Given the description of an element on the screen output the (x, y) to click on. 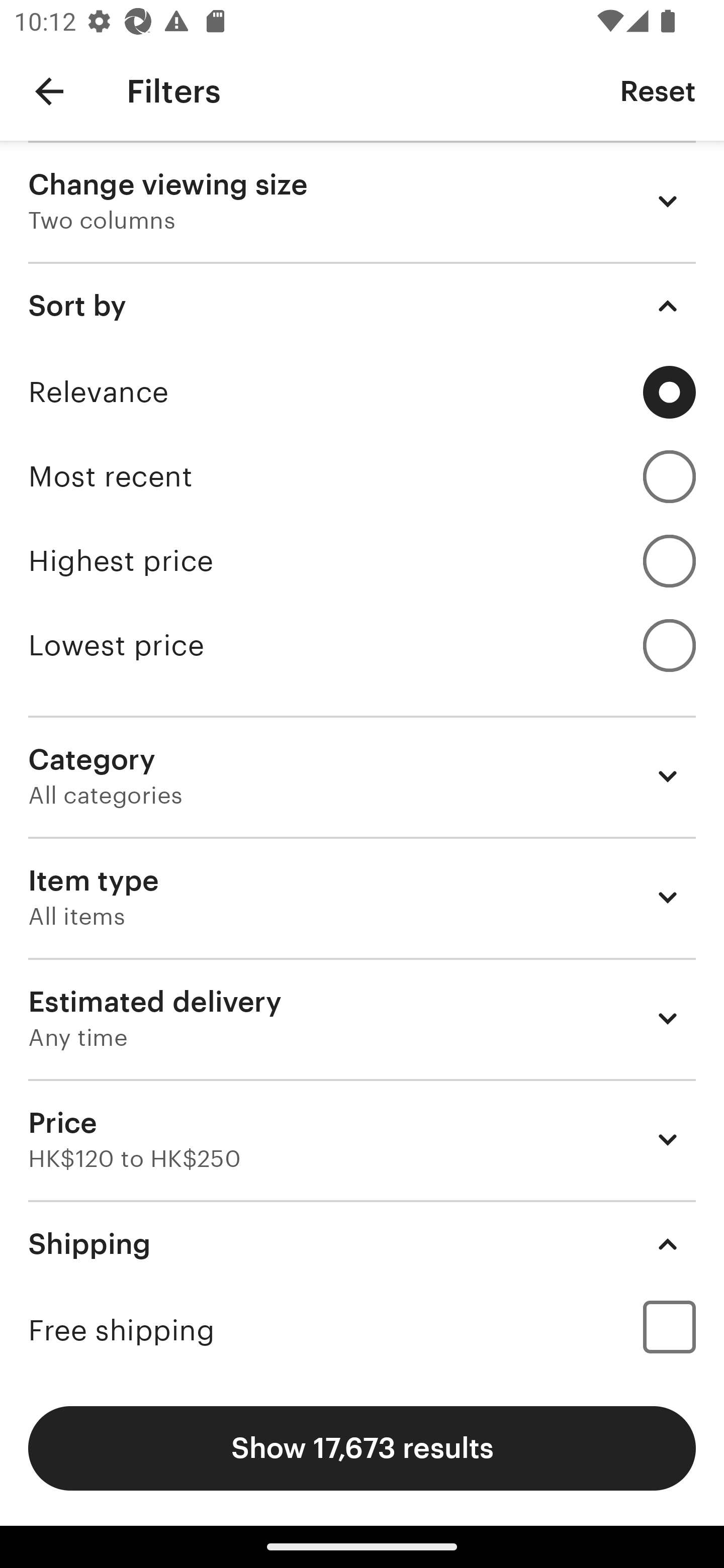
Navigate up (49, 91)
Reset (657, 90)
Change viewing size Two columns (362, 201)
Sort by (362, 305)
Relevance (362, 391)
Most recent (362, 476)
Highest price (362, 561)
Lowest price (362, 644)
Category All categories (362, 776)
Item type All items (362, 897)
Estimated delivery Any time (362, 1018)
Price HK$120 to HK$250 (362, 1138)
Shipping (362, 1243)
Free shipping (362, 1329)
Show 17,673 results Show results (361, 1448)
